Given the description of an element on the screen output the (x, y) to click on. 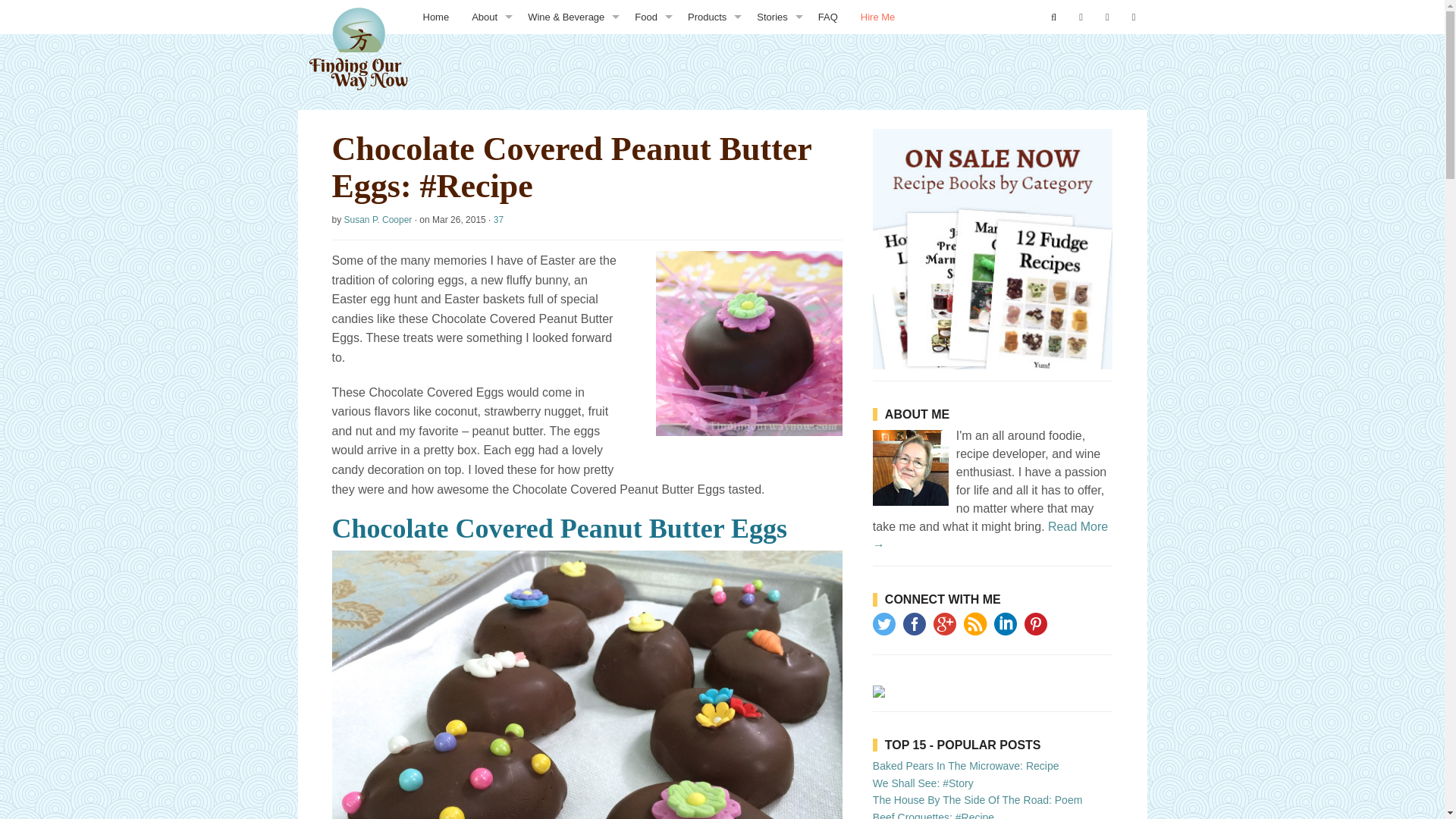
Home (435, 17)
Hire Me (877, 17)
Thursday, March 26, 2015, 4:00 am (459, 219)
Finding Our Way Now (353, 56)
Posts by Susan P. Cooper (377, 219)
Chocolate Covered Peanut Butter Eggs , findingourwaynow.com (749, 342)
